Given the description of an element on the screen output the (x, y) to click on. 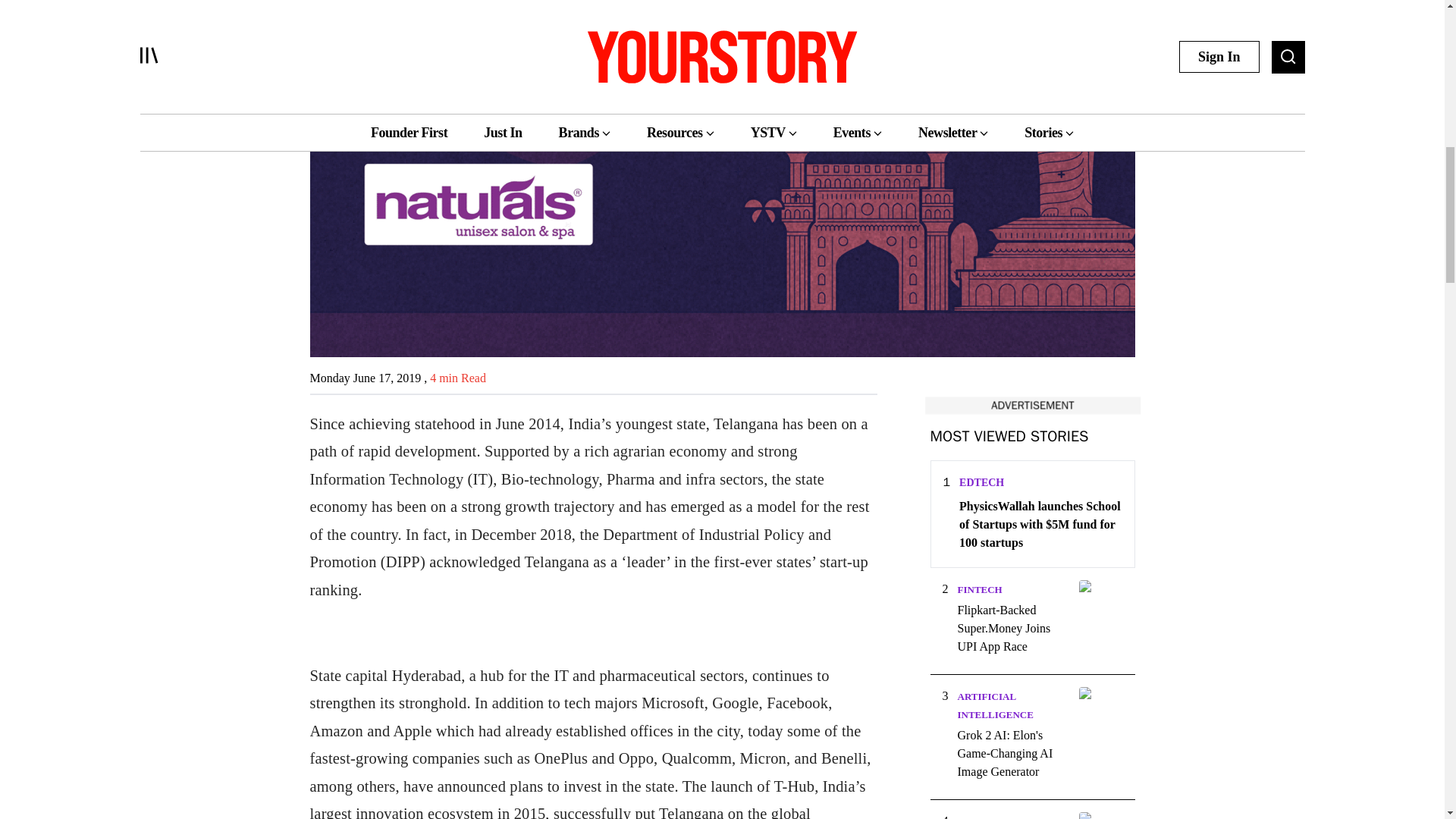
Grok 2 AI: Elon'S Game-Changing AI Image Generator (1012, 753)
Advertise with us (1032, 405)
FINTECH (978, 589)
Flipkart-Backed Super.Money Joins UPI App Race (1012, 628)
ARTIFICIAL INTELLIGENCE (994, 705)
FUNDING (979, 817)
EDTECH (981, 482)
